Given the description of an element on the screen output the (x, y) to click on. 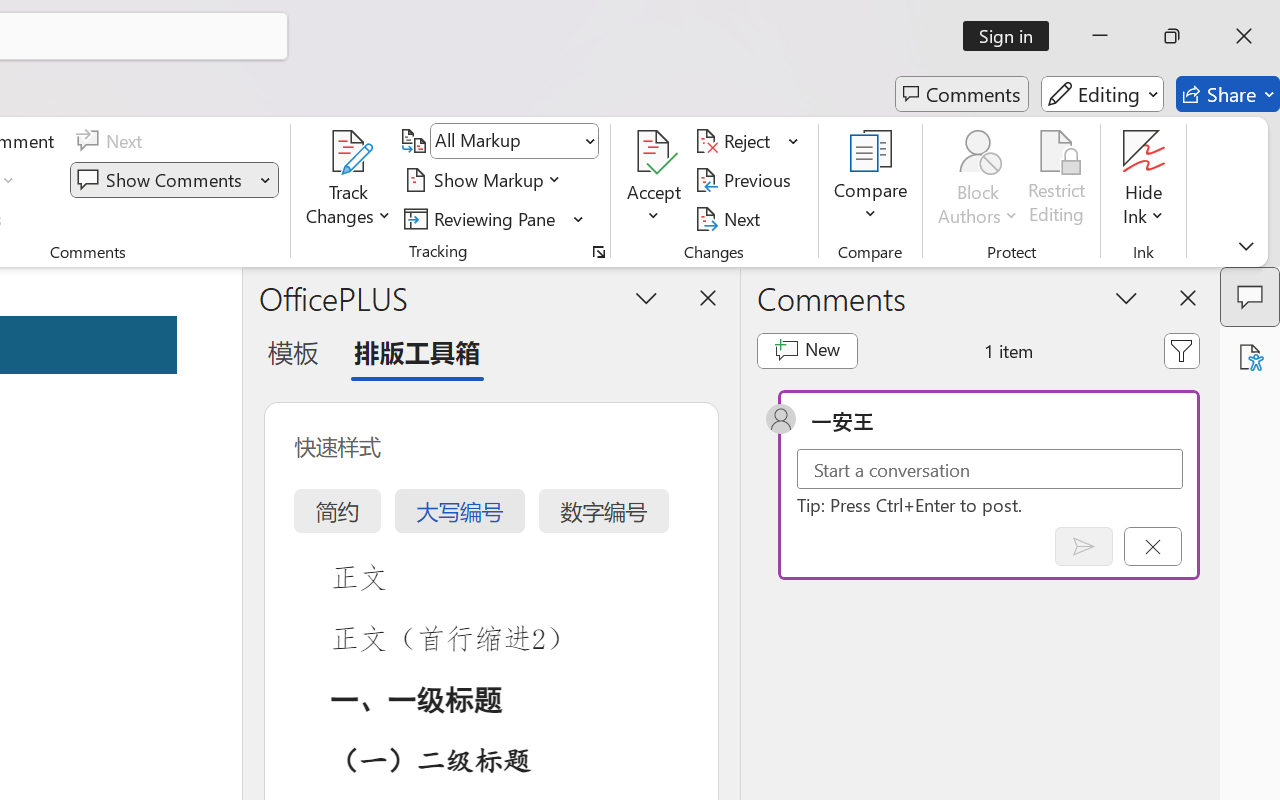
Filter (1181, 350)
Reviewing Pane (494, 218)
Hide Ink (1144, 179)
Compare (870, 179)
Accessibility Assistant (1249, 357)
Post comment (Ctrl + Enter) (1083, 546)
Sign in (1012, 35)
